Given the description of an element on the screen output the (x, y) to click on. 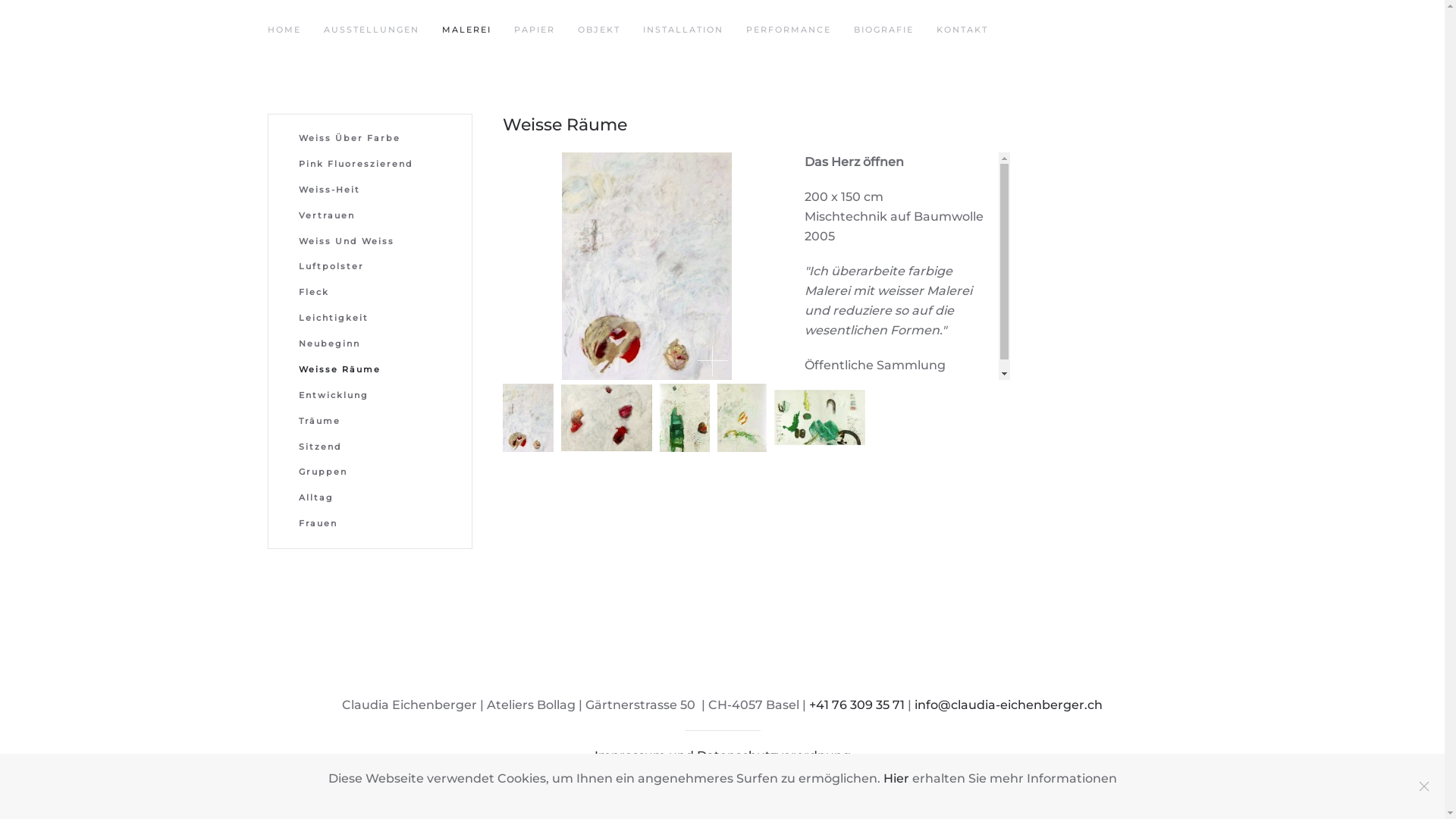
Impressum und Datenschutzverordnung Element type: text (722, 755)
MALEREI Element type: text (465, 30)
Weiss Und Weiss Element type: text (369, 241)
04 Auf Wiedersehen Element type: hover (741, 417)
AUSSTELLUNGEN Element type: text (370, 30)
Neubeginn Element type: text (369, 344)
BIOGRAFIE Element type: text (883, 30)
INSTALLATION Element type: text (683, 30)
KONTAKT Element type: text (961, 30)
+41 76 309 35 71 Element type: text (856, 704)
Vertrauen Element type: text (369, 216)
Luftpolster Element type: text (369, 266)
03 Adi   Element type: hover (684, 417)
01 Das Herz o  ffnen Element type: hover (527, 417)
Fleck Element type: text (369, 292)
PERFORMANCE Element type: text (788, 30)
Hier Element type: text (895, 778)
Pink Fluoreszierend Element type: text (369, 164)
Alltag Element type: text (369, 498)
02 Leichter Element type: hover (606, 417)
04  72 570 Teil   Aspekte Element type: hover (818, 417)
info@claudia-eichenberger.ch Element type: text (1008, 704)
Weiss-Heit Element type: text (369, 190)
Leichtigkeit Element type: text (369, 318)
Frauen Element type: text (369, 523)
Sitzend Element type: text (369, 446)
01 Das Herz o  ffnen Element type: hover (646, 265)
Entwicklung Element type: text (369, 395)
HOME Element type: text (283, 30)
Gruppen Element type: text (369, 472)
OBJEKT Element type: text (598, 30)
PAPIER Element type: text (534, 30)
